Given the description of an element on the screen output the (x, y) to click on. 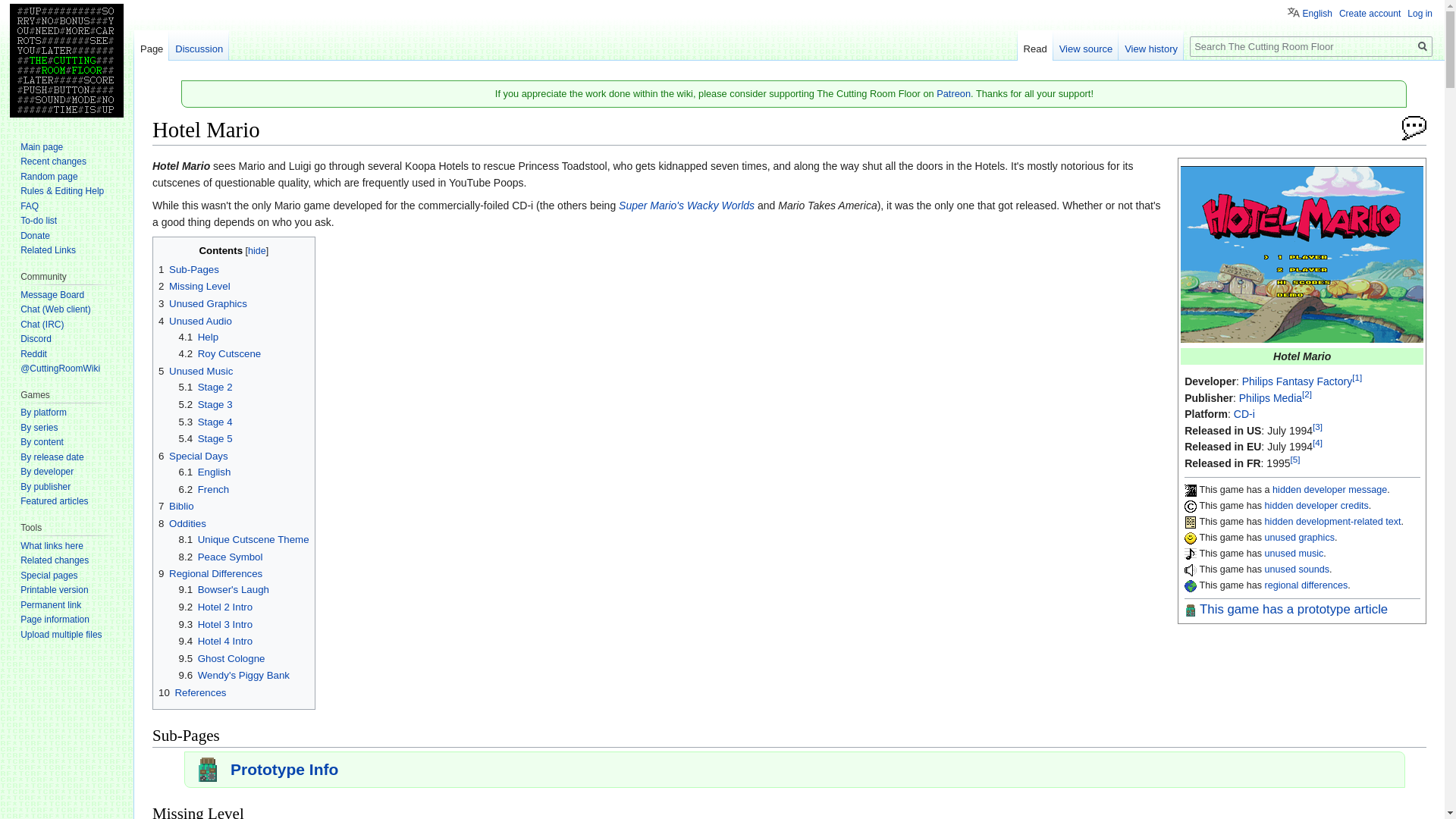
Category:Games published by Philips Media (1270, 398)
Category:Games developed by Philips Fantasy Factory (1296, 381)
hidden developer credits (1316, 505)
Philips Fantasy Factory (1296, 381)
2 Missing Level (194, 285)
Patreon (953, 93)
Super Mario's Wacky Worlds (686, 205)
Category:Games with hidden developer credits (1316, 505)
regional differences (1306, 584)
5.2 Stage 3 (205, 404)
Category:CD-i games (1244, 413)
Go (1422, 46)
CD-i (1244, 413)
Category:Games with unused sounds (1297, 569)
This game has a prototype article (1293, 609)
